Given the description of an element on the screen output the (x, y) to click on. 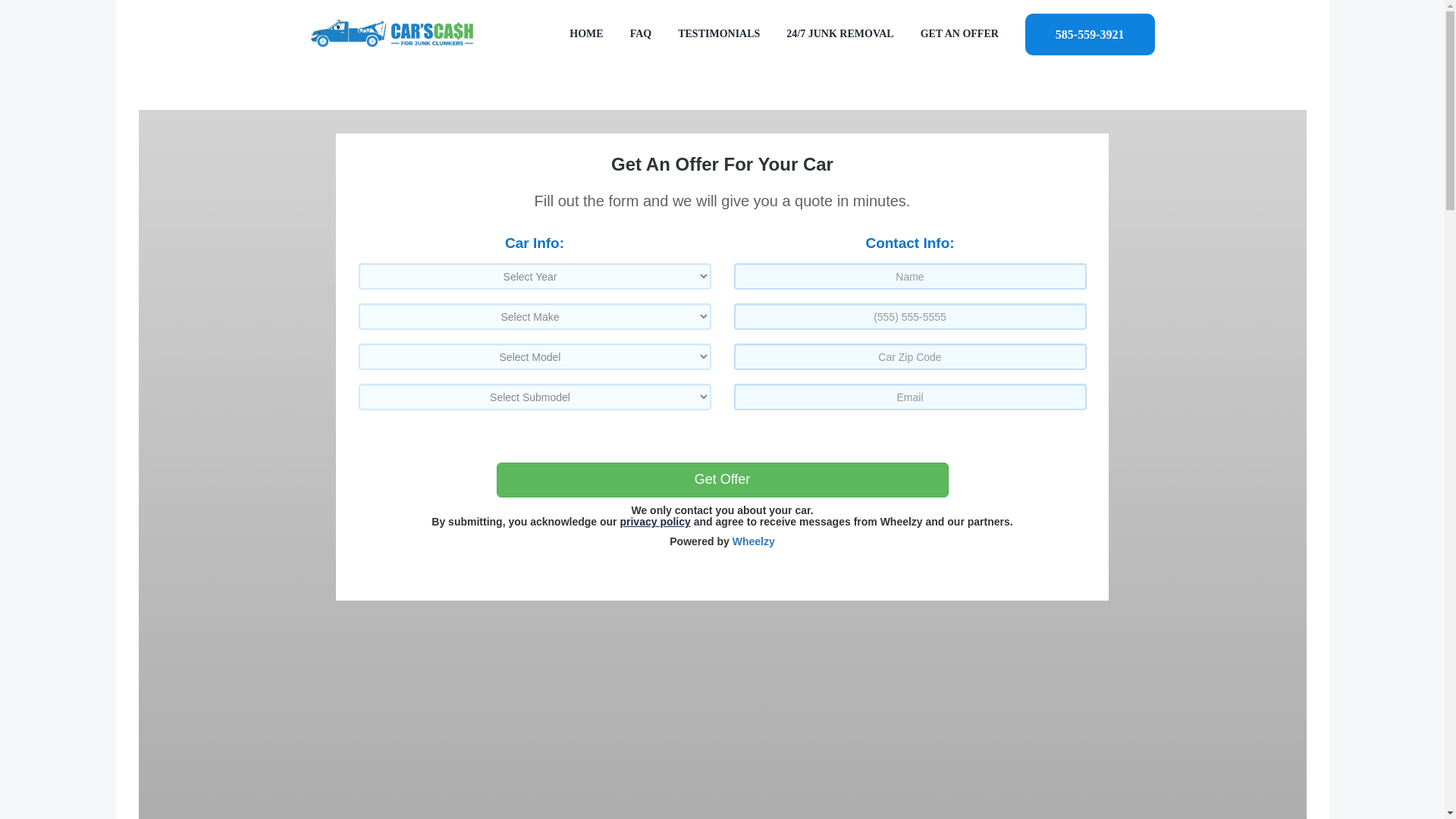
TESTIMONIALS (719, 33)
GET AN OFFER (959, 33)
585-559-3921 (1089, 33)
